Given the description of an element on the screen output the (x, y) to click on. 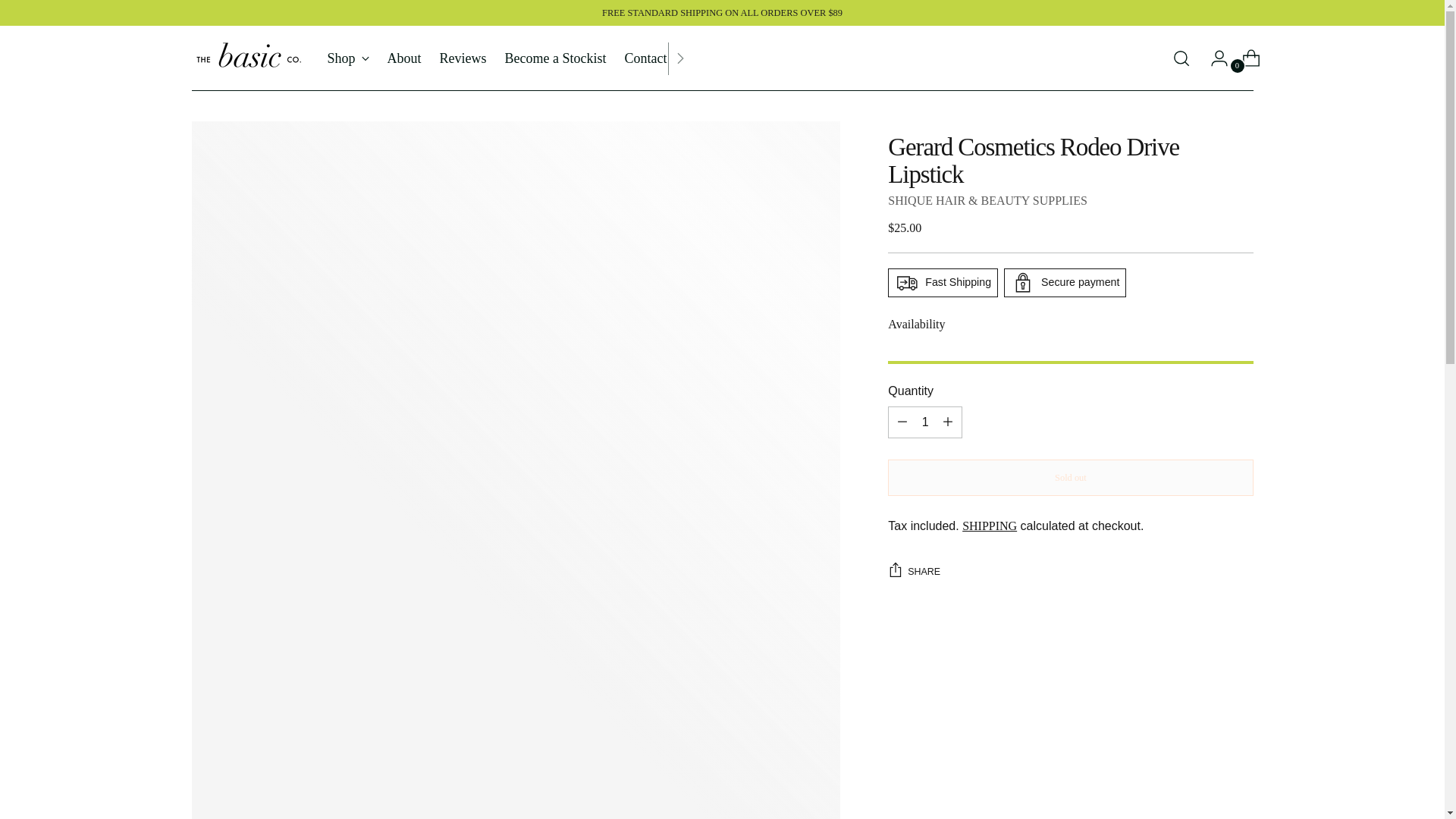
Shop (508, 57)
1 (348, 58)
